Given the description of an element on the screen output the (x, y) to click on. 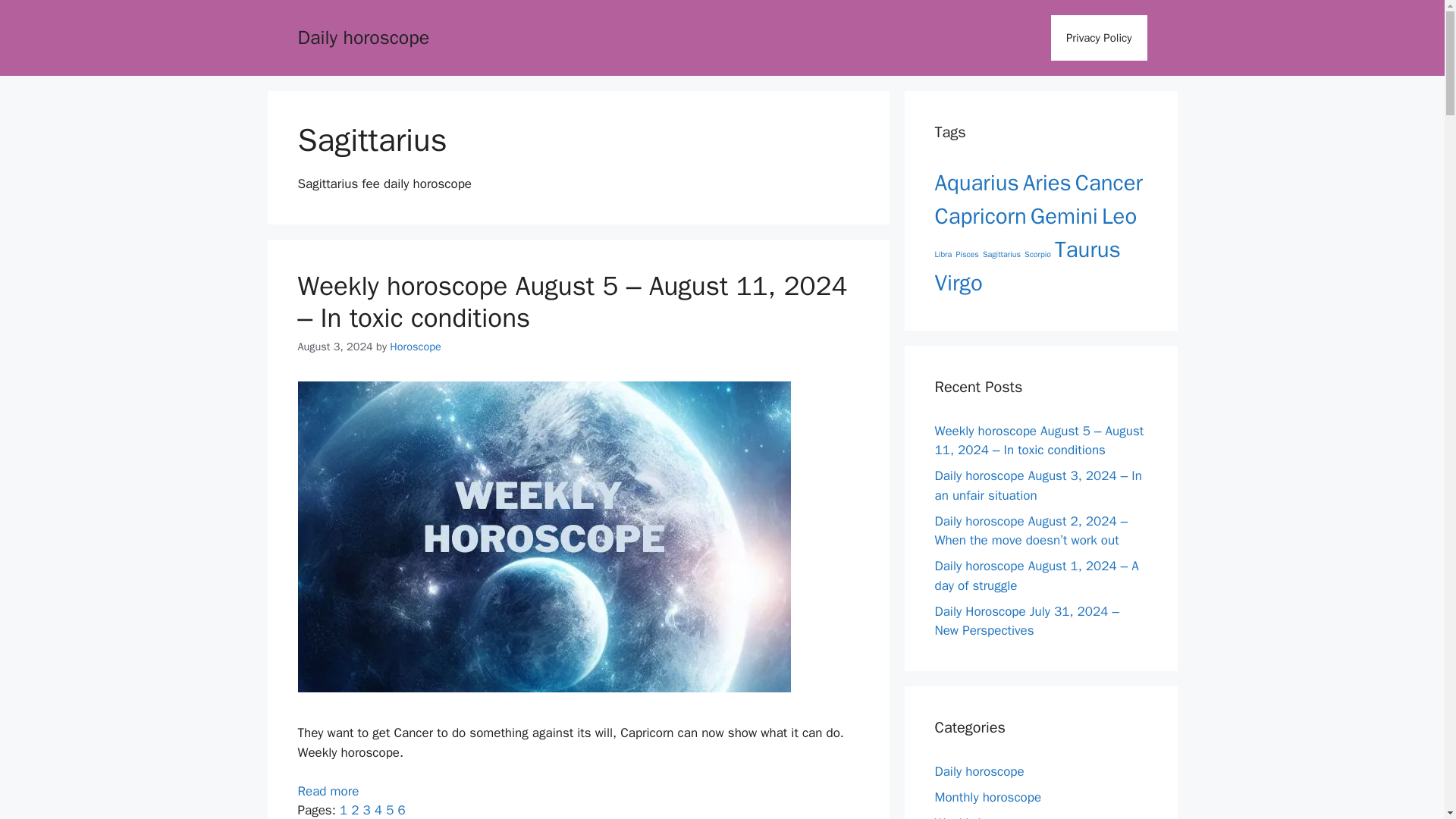
Read more (327, 790)
View all posts by Horoscope (415, 345)
Daily horoscope (363, 37)
Horoscope (415, 345)
5 (389, 810)
2 (354, 810)
3 (365, 810)
4 (377, 810)
Privacy Policy (1099, 37)
1 (343, 810)
6 (400, 810)
